Given the description of an element on the screen output the (x, y) to click on. 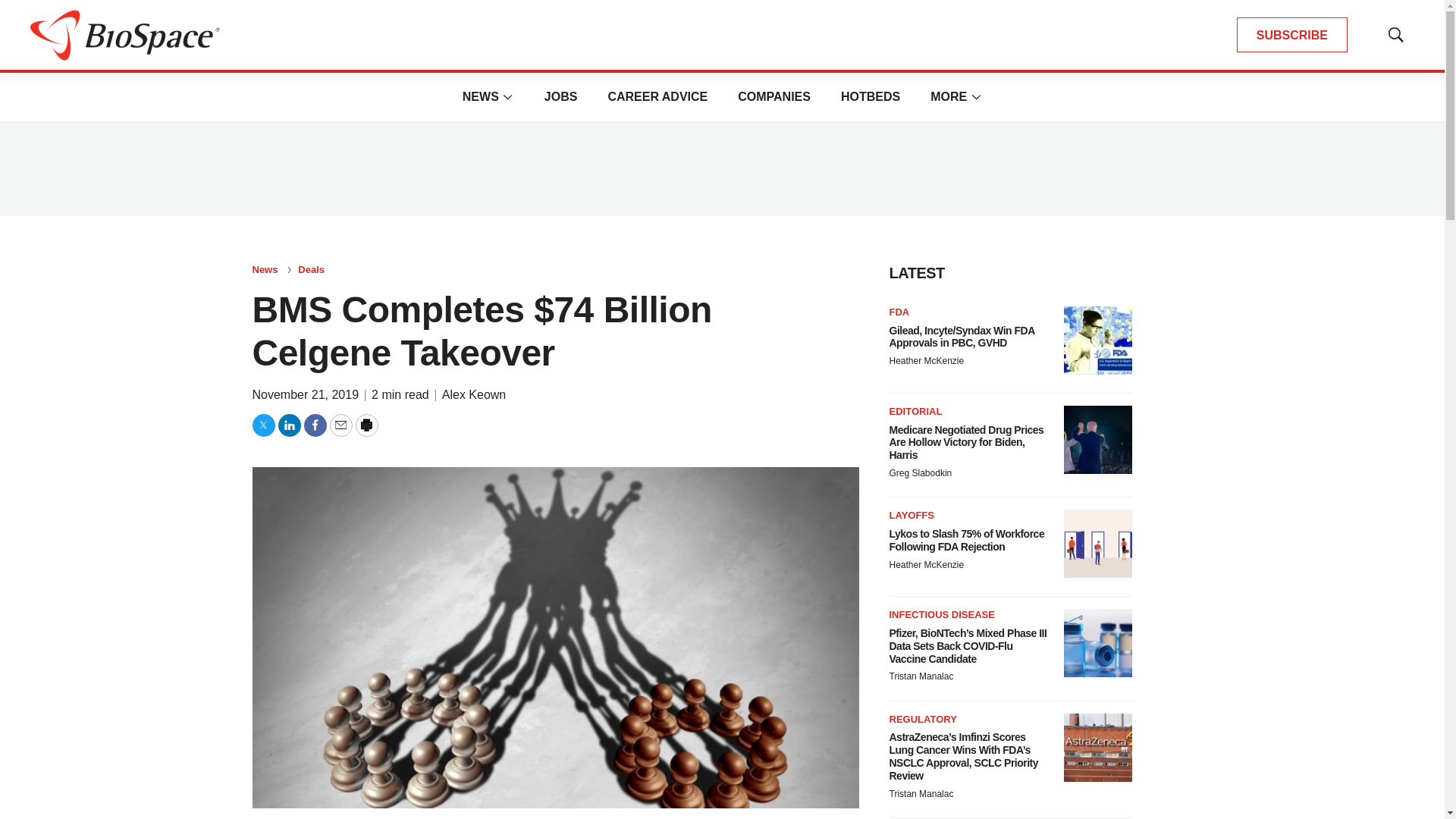
Show Search (1395, 34)
SUBSCRIBE (1292, 34)
NEWS (481, 96)
3rd party ad content (721, 168)
